Given the description of an element on the screen output the (x, y) to click on. 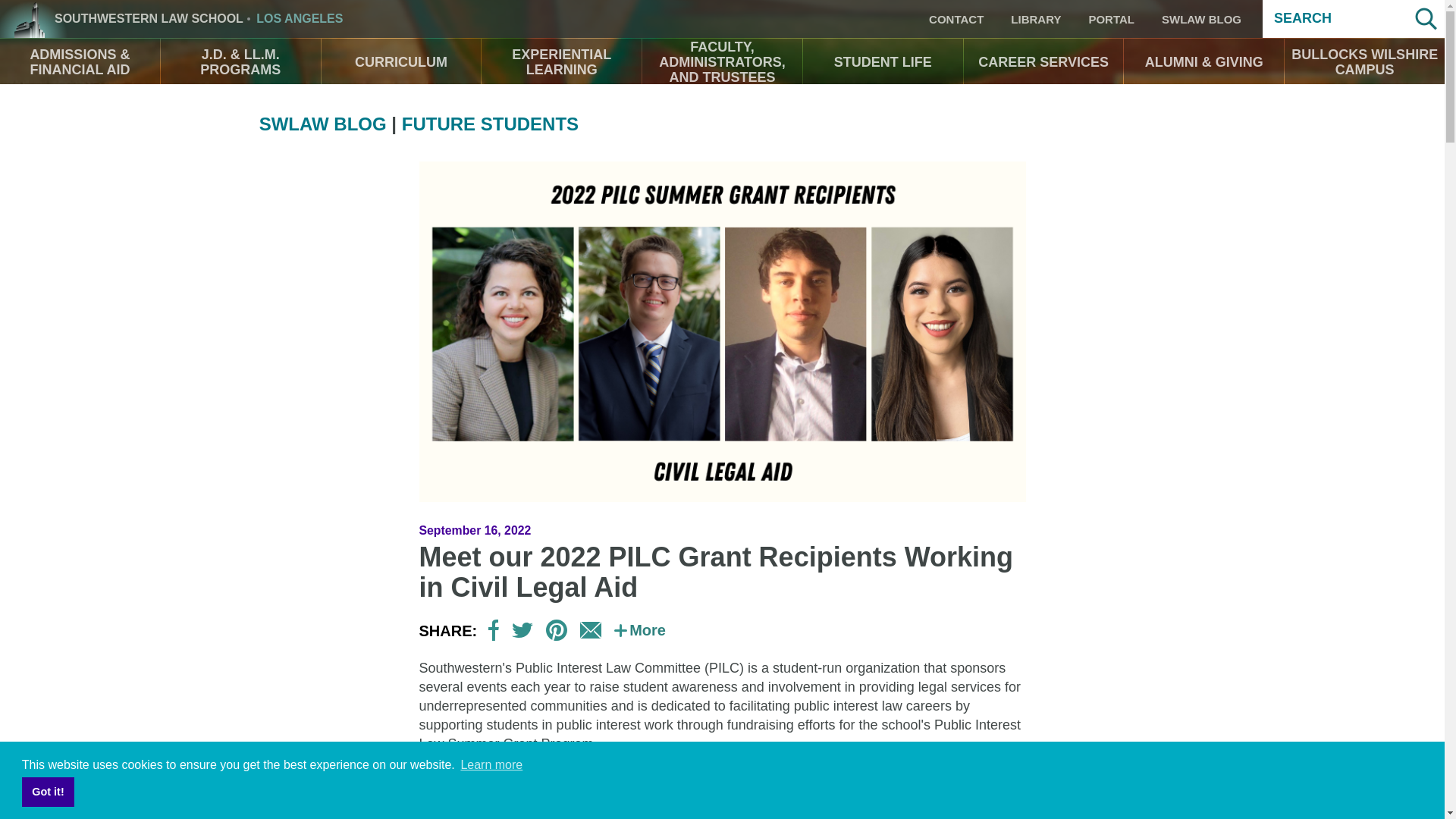
Ways to take your skills out into the world as a law student (561, 62)
Learn more (491, 764)
Got it! (47, 791)
The rich tapestry of student life at Southwestern (882, 62)
